Given the description of an element on the screen output the (x, y) to click on. 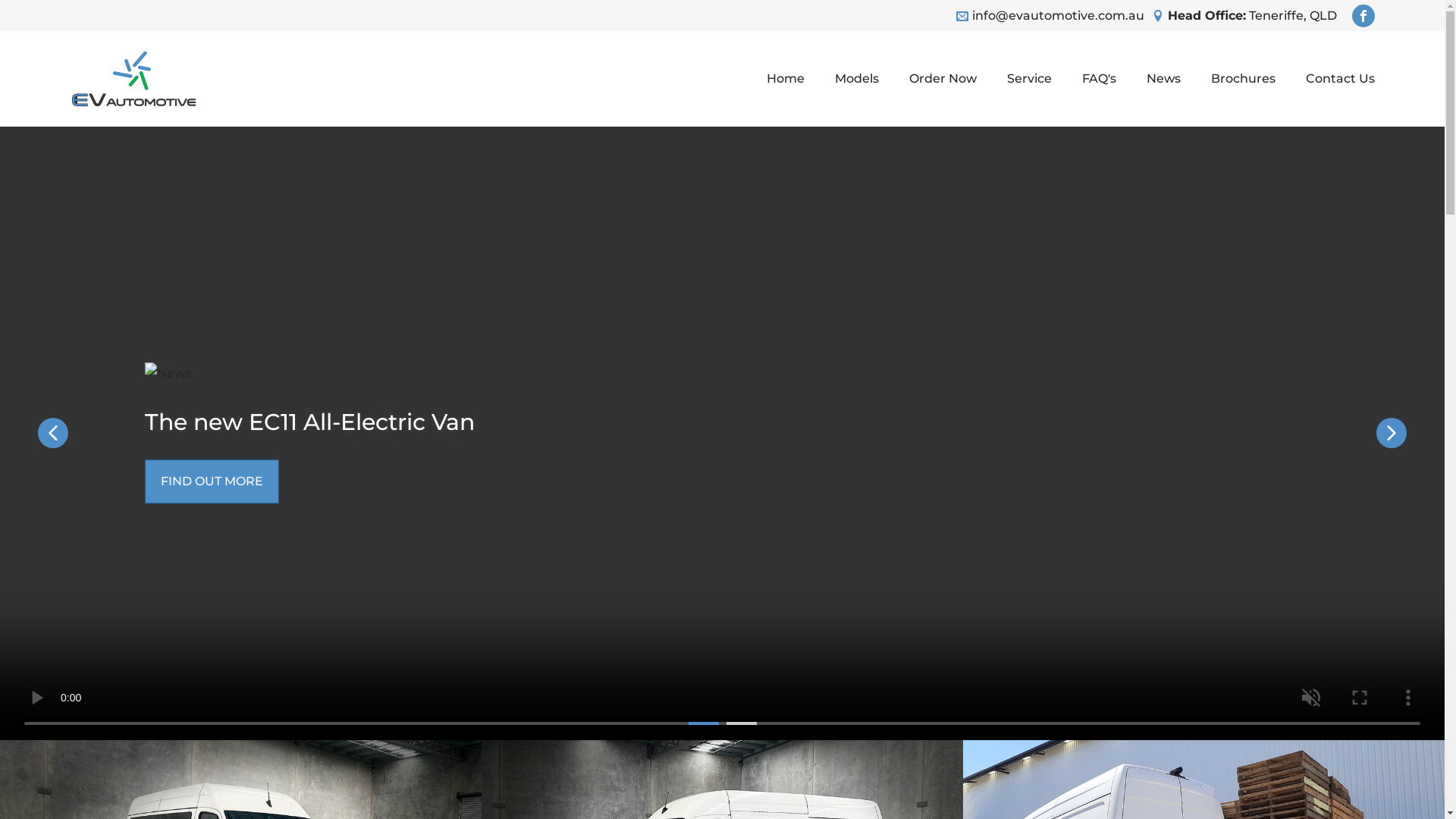
Contact Us Element type: text (1332, 78)
Order Now Element type: text (942, 78)
Head Office: Teneriffe, QLD Element type: text (1251, 15)
Brochures Element type: text (1242, 78)
Service Element type: text (1028, 78)
News Element type: text (1163, 78)
FAQ'S Element type: text (1098, 78)
Models Element type: text (856, 78)
Home Element type: text (784, 78)
info@evautomotive.com.au Element type: text (1058, 15)
FIND OUT MORE Element type: text (211, 481)
